Given the description of an element on the screen output the (x, y) to click on. 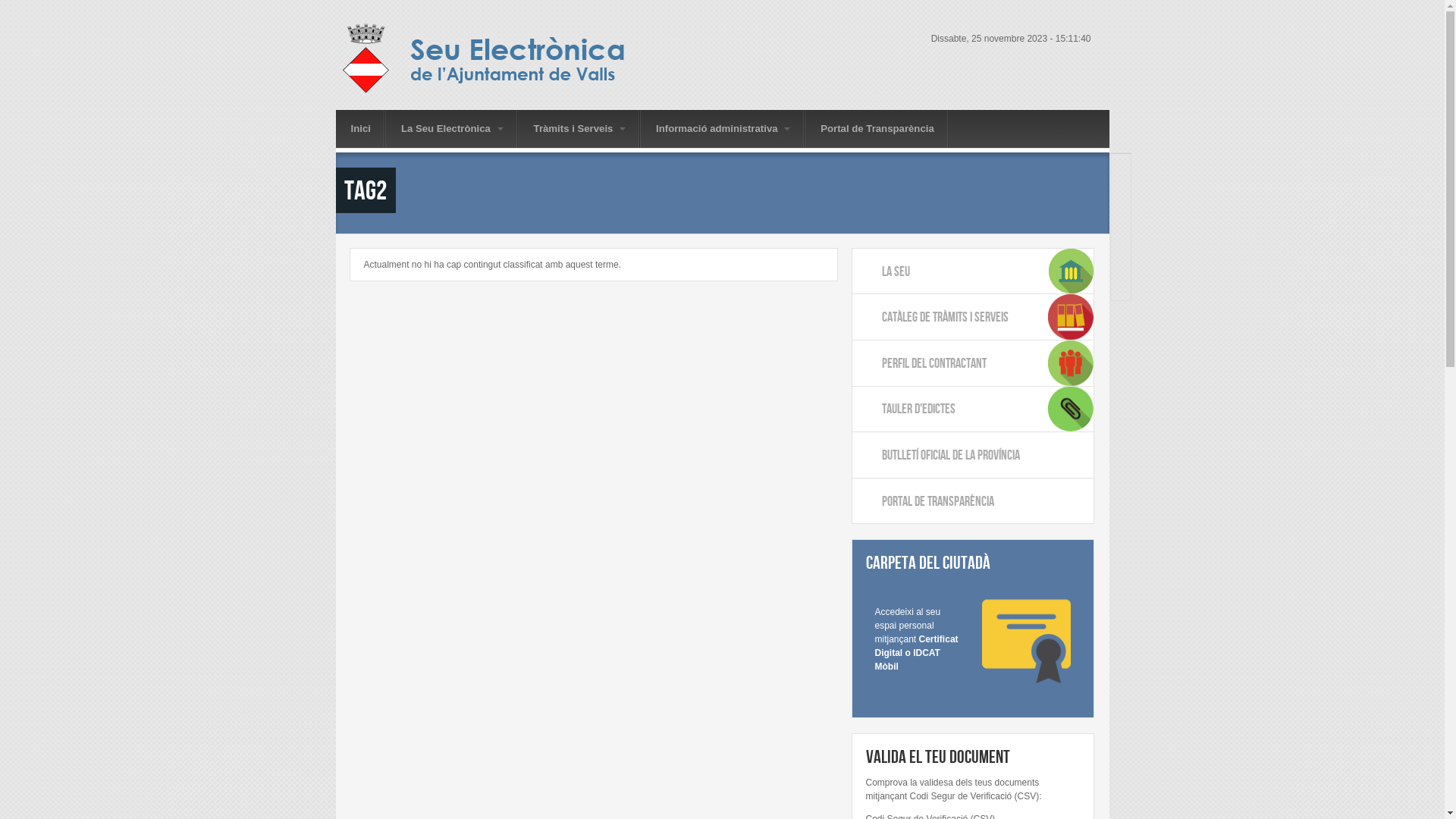
Inici Element type: hover (498, 58)
La Seu Element type: text (972, 271)
  Element type: text (1120, 178)
  Element type: text (1120, 242)
  Element type: text (1120, 274)
  Element type: text (1120, 162)
  Element type: text (1120, 226)
  Element type: text (1120, 194)
  Element type: text (1120, 258)
Inici Element type: text (360, 128)
Tauler d'edictes Element type: text (972, 409)
Perfil del Contractant Element type: text (972, 362)
  Element type: text (1120, 290)
  Element type: text (1120, 210)
